Given the description of an element on the screen output the (x, y) to click on. 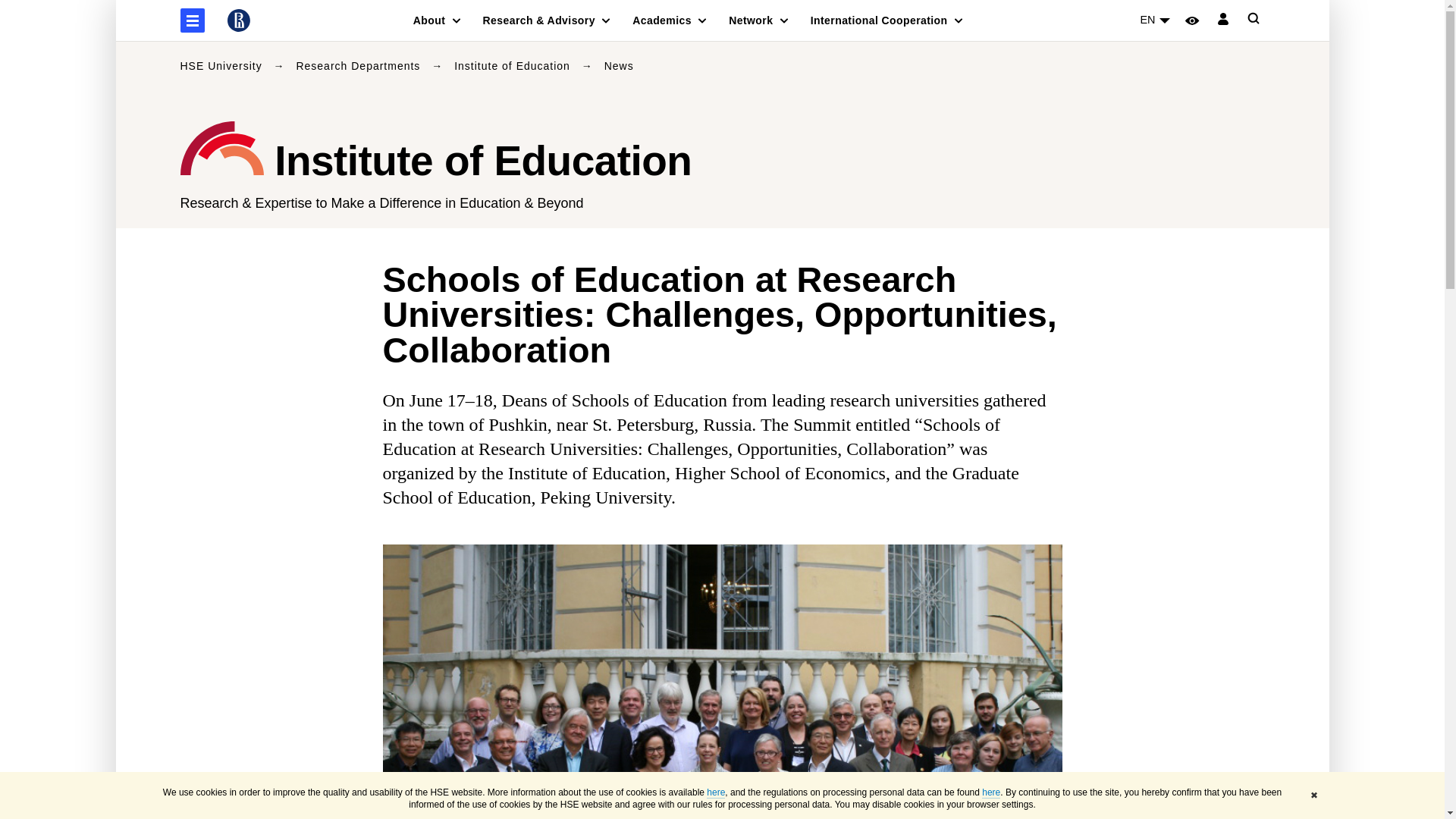
News (618, 65)
here (715, 792)
HSE University (223, 65)
Institute of Education (513, 65)
Research Departments (359, 65)
here (990, 792)
